Given the description of an element on the screen output the (x, y) to click on. 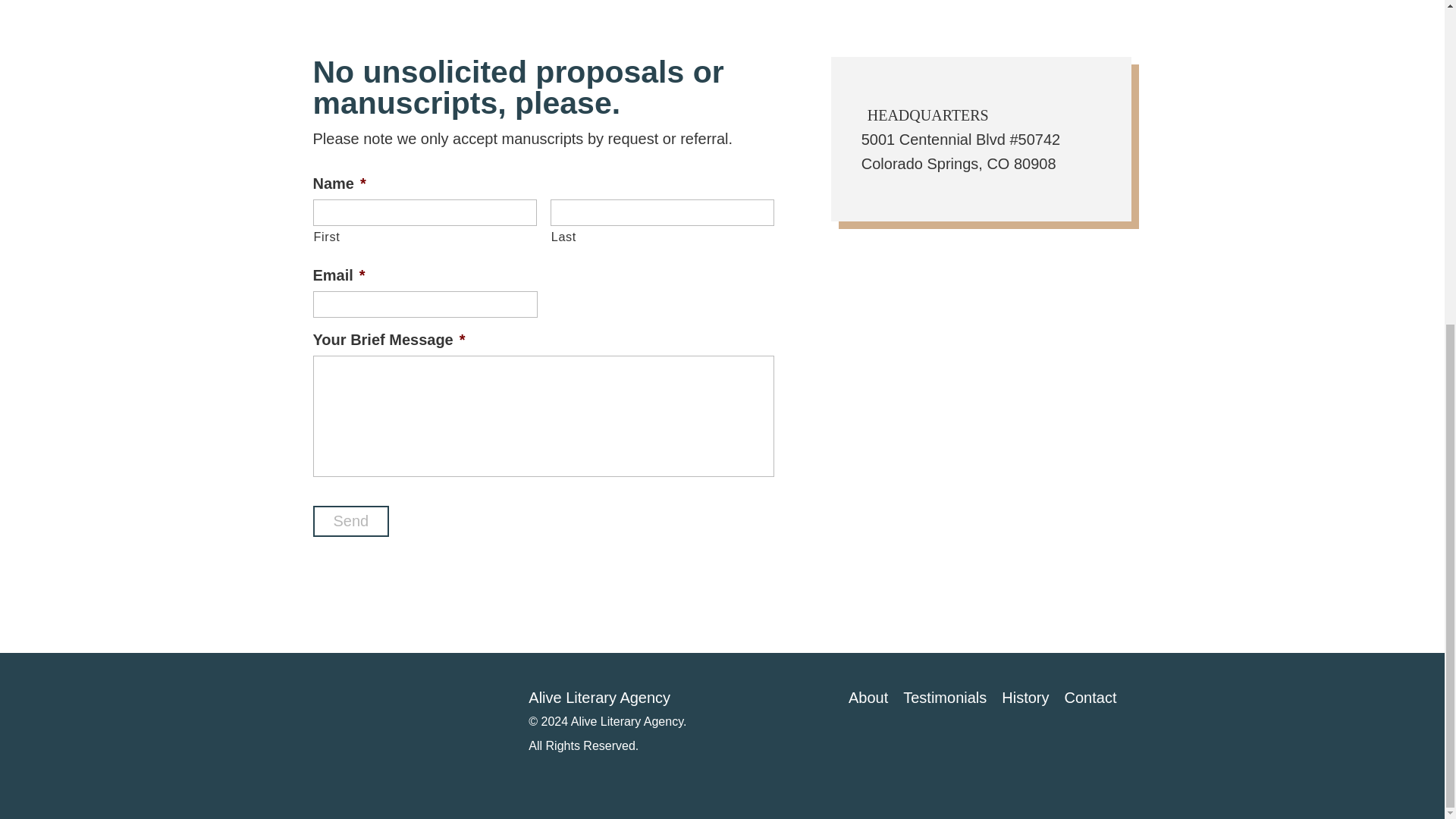
History (1024, 697)
Send (350, 521)
Send (350, 521)
Testimonials (944, 697)
About (868, 697)
Contact (1090, 697)
